Given the description of an element on the screen output the (x, y) to click on. 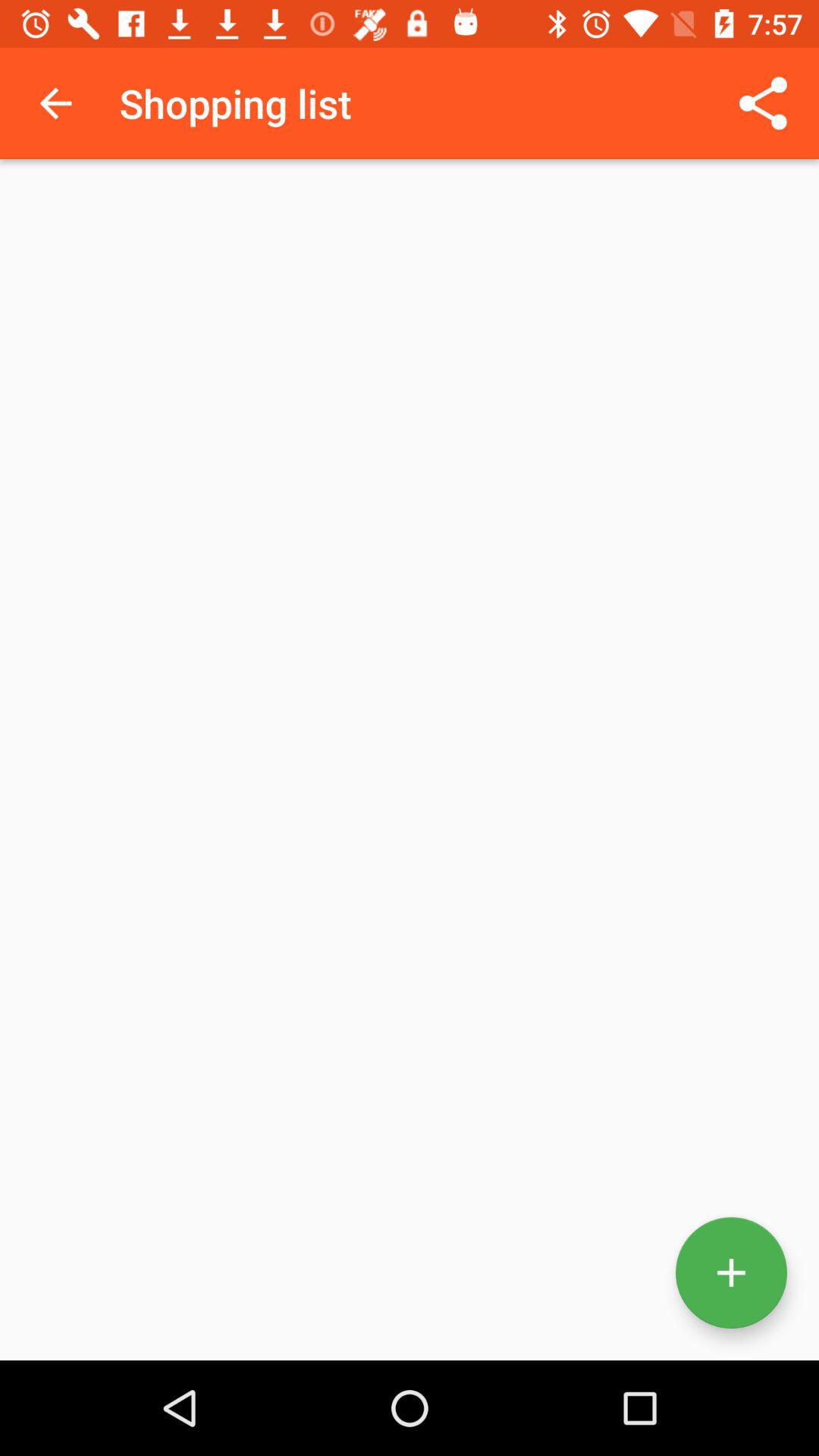
open the item to the left of shopping list app (55, 103)
